Given the description of an element on the screen output the (x, y) to click on. 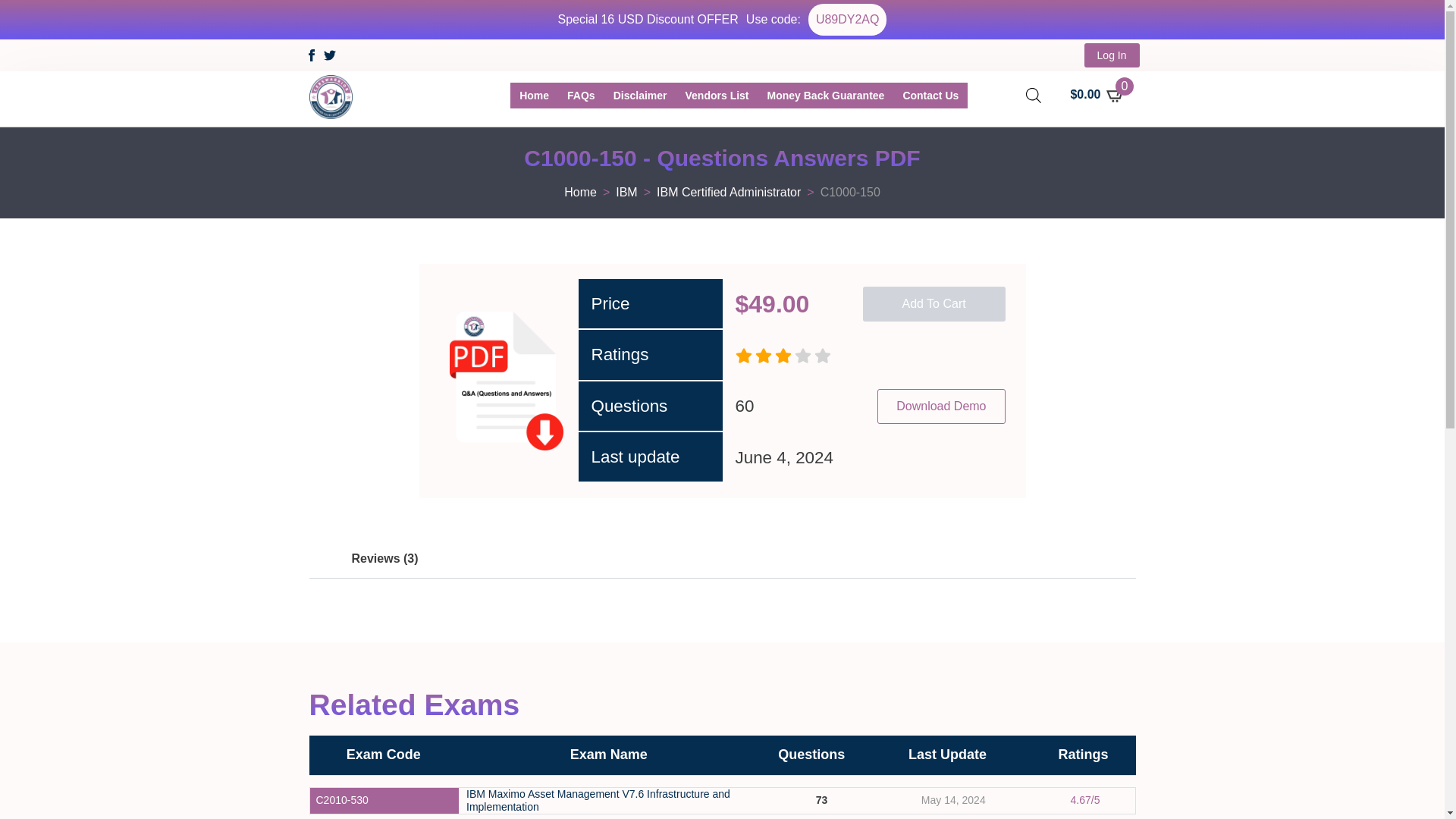
Add To Cart (934, 303)
Contact Us (930, 95)
Home (534, 95)
Disclaimer (640, 95)
Contact Us (930, 95)
FAQs (580, 95)
Refund Policy (825, 95)
Vendors List (717, 95)
IBM Certified Administrator (728, 192)
